Given the description of an element on the screen output the (x, y) to click on. 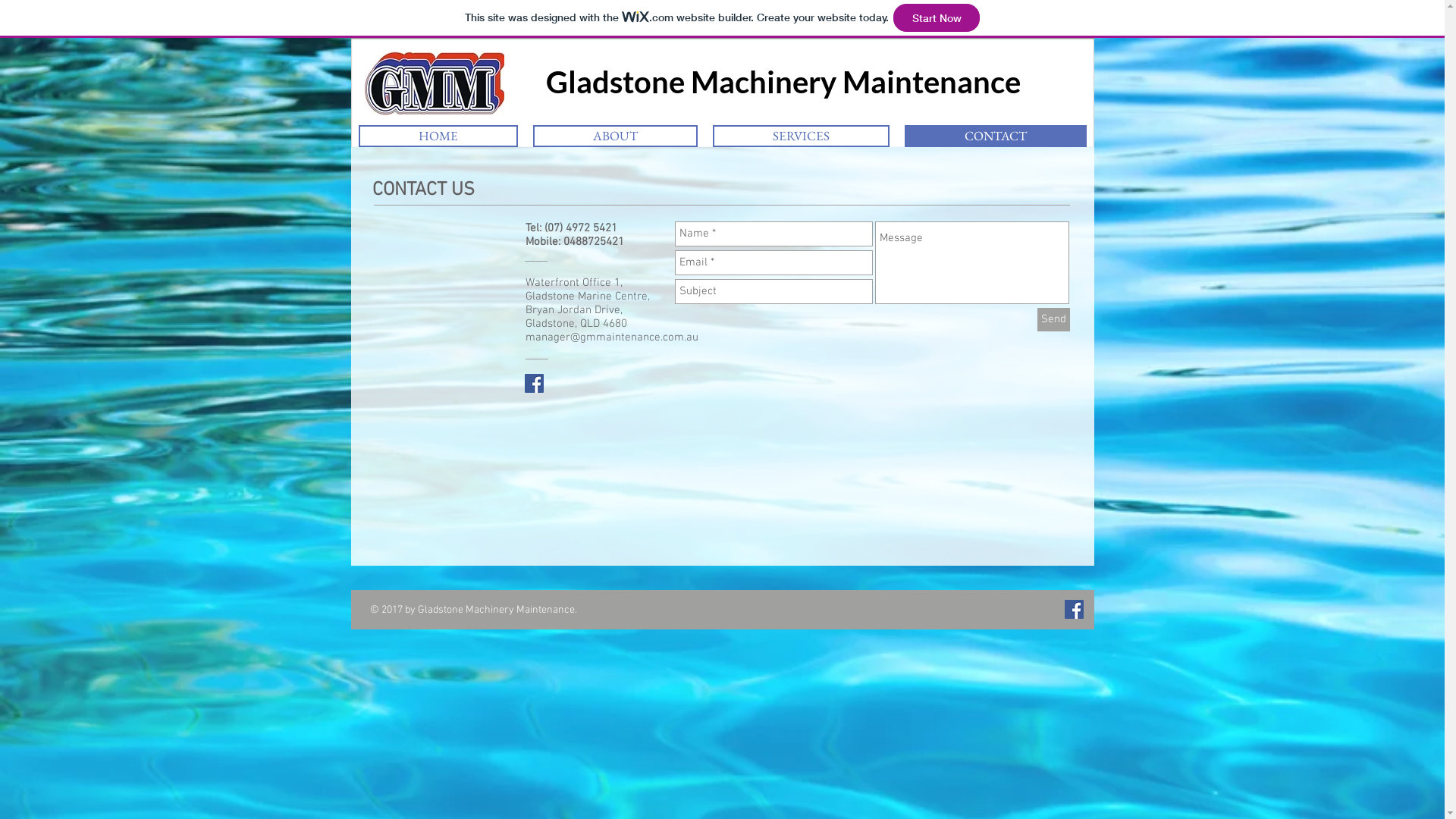
SERVICES Element type: text (800, 136)
manager@gmmaintenance.com.au Element type: text (610, 337)
Google Maps Element type: hover (797, 486)
CONTACT Element type: text (994, 136)
HOME Element type: text (437, 136)
ABOUT Element type: text (614, 136)
Send Element type: text (1053, 319)
      Gladstone Element type: text (596, 81)
